Given the description of an element on the screen output the (x, y) to click on. 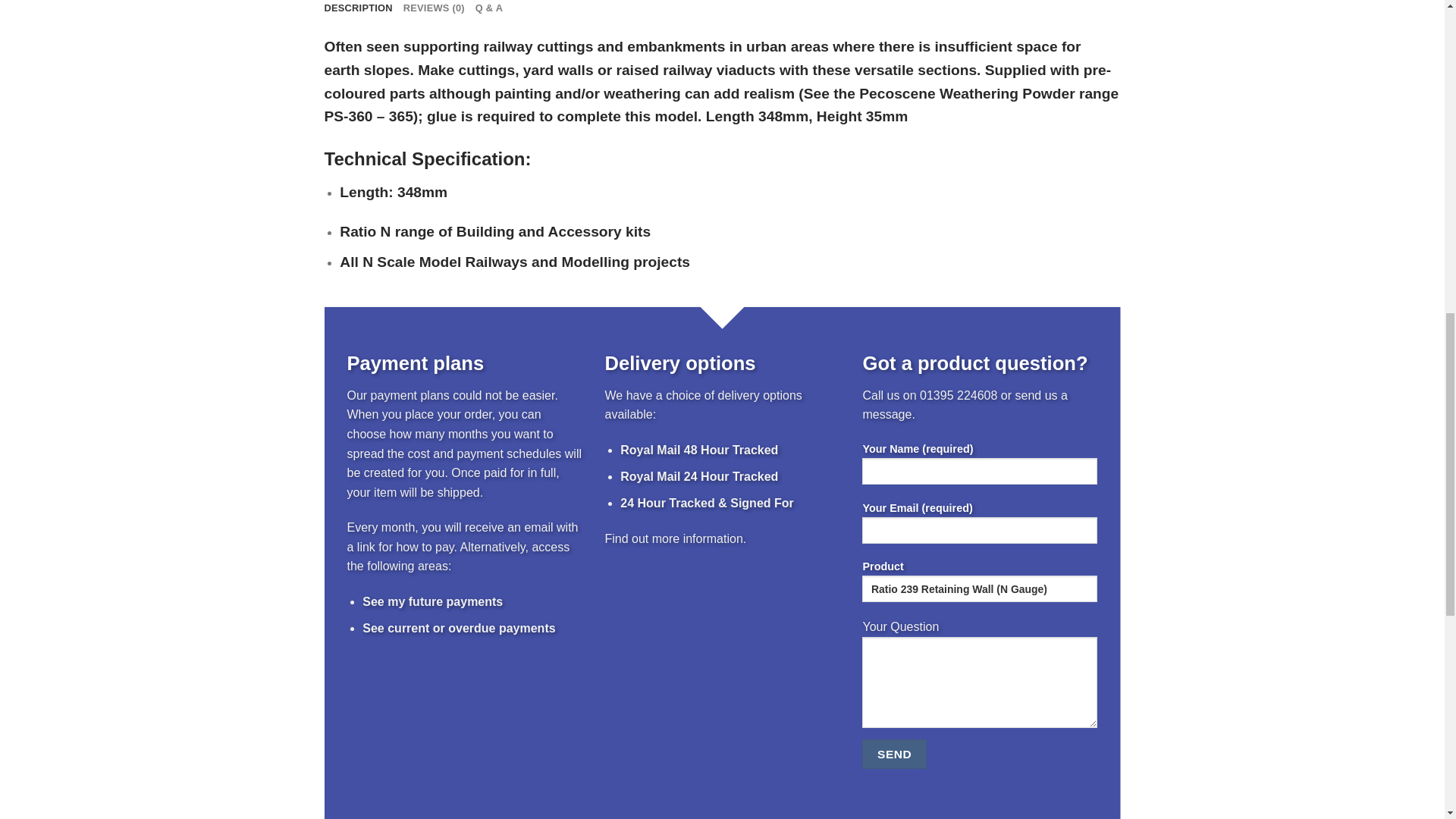
Send (893, 754)
